Given the description of an element on the screen output the (x, y) to click on. 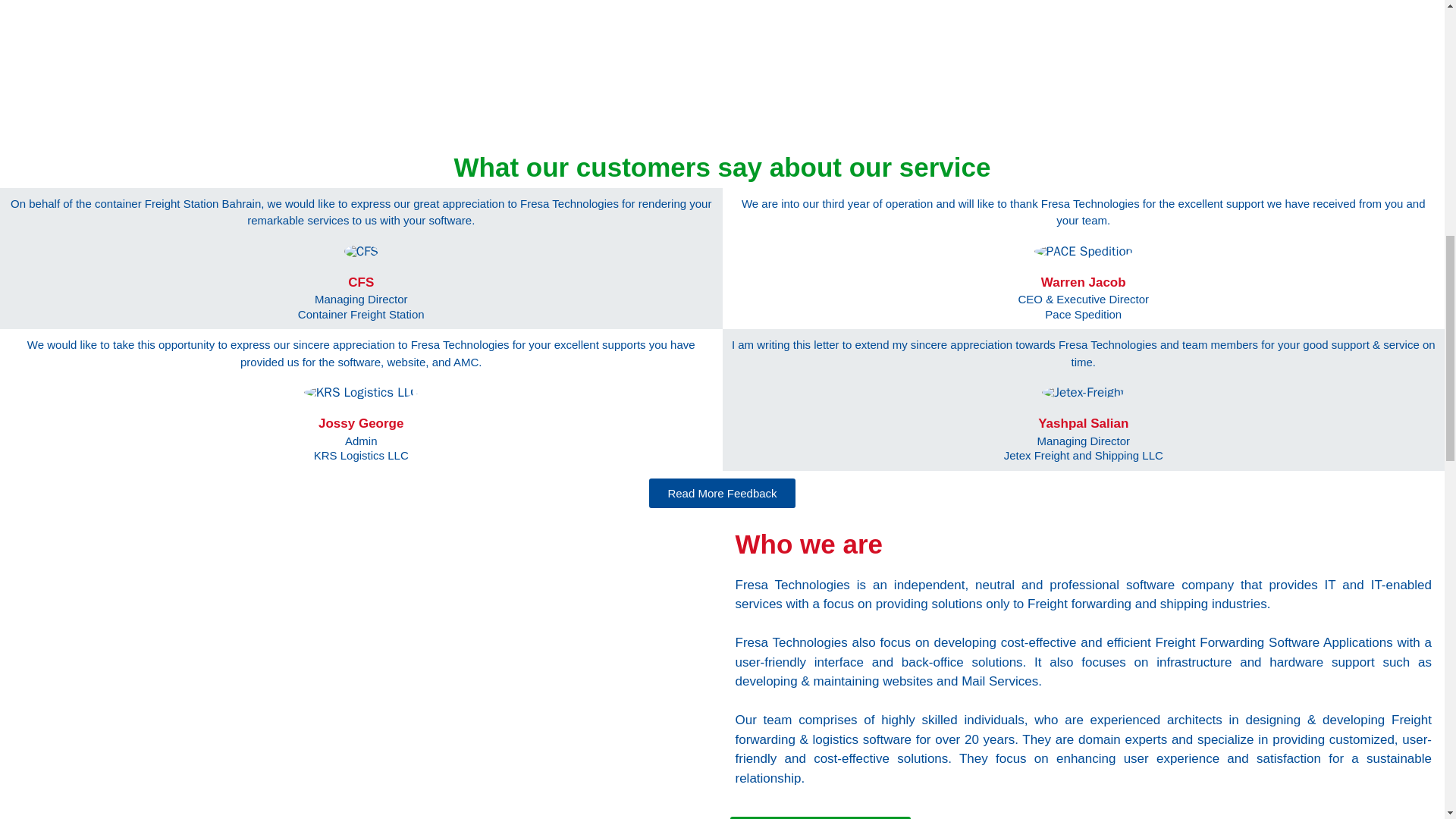
CFS (361, 282)
Jossy George (361, 424)
Warren Jacob (361, 448)
